Given the description of an element on the screen output the (x, y) to click on. 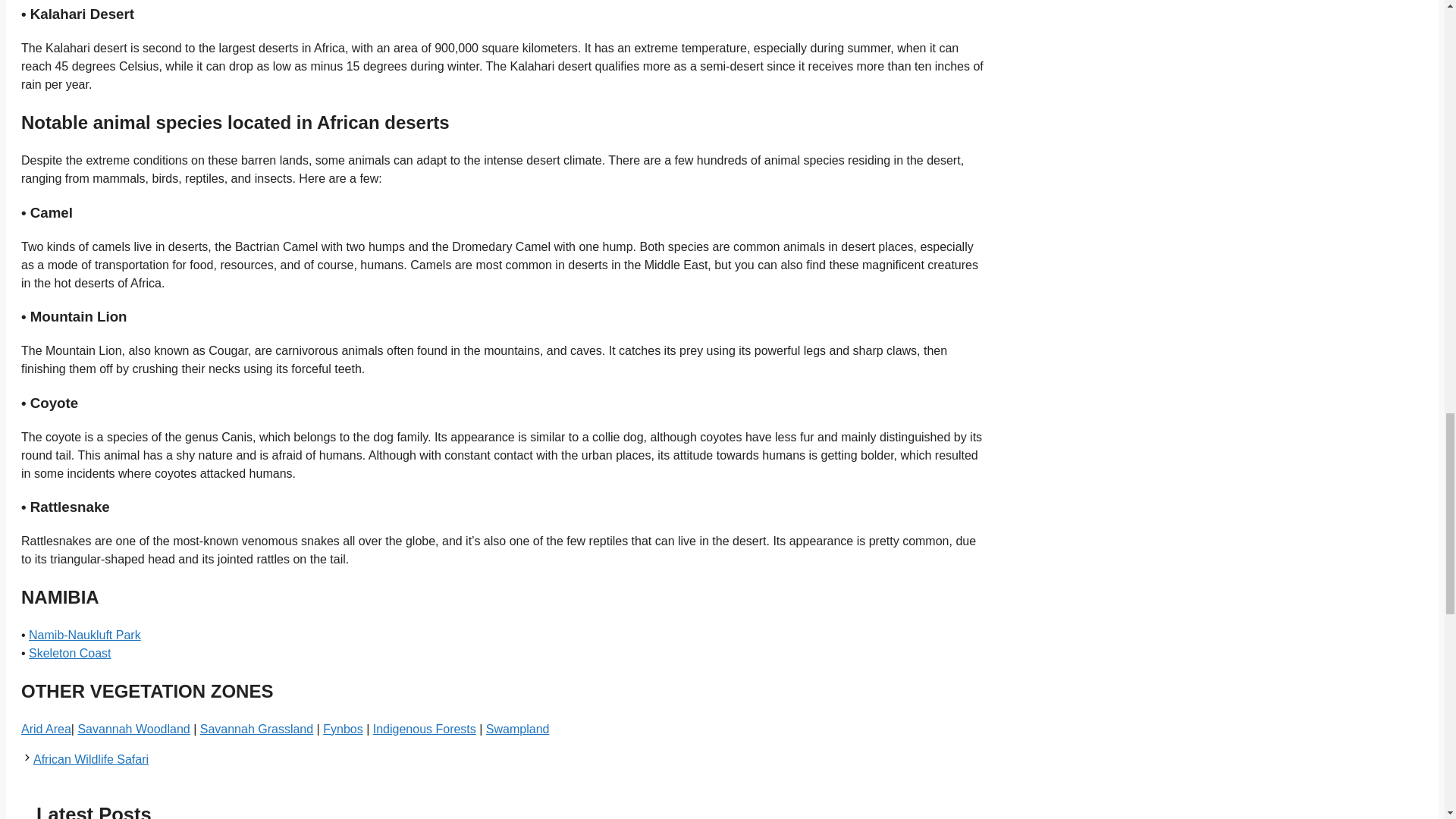
Swampland (518, 728)
Namib-Naukluft Park (85, 634)
Savannah Woodland (133, 728)
Skeleton Coast (70, 653)
Arid Area (46, 728)
African Wildlife Safari (90, 758)
Savannah Grassland (256, 728)
Fynbos (342, 728)
Indigenous Forests (424, 728)
